Given the description of an element on the screen output the (x, y) to click on. 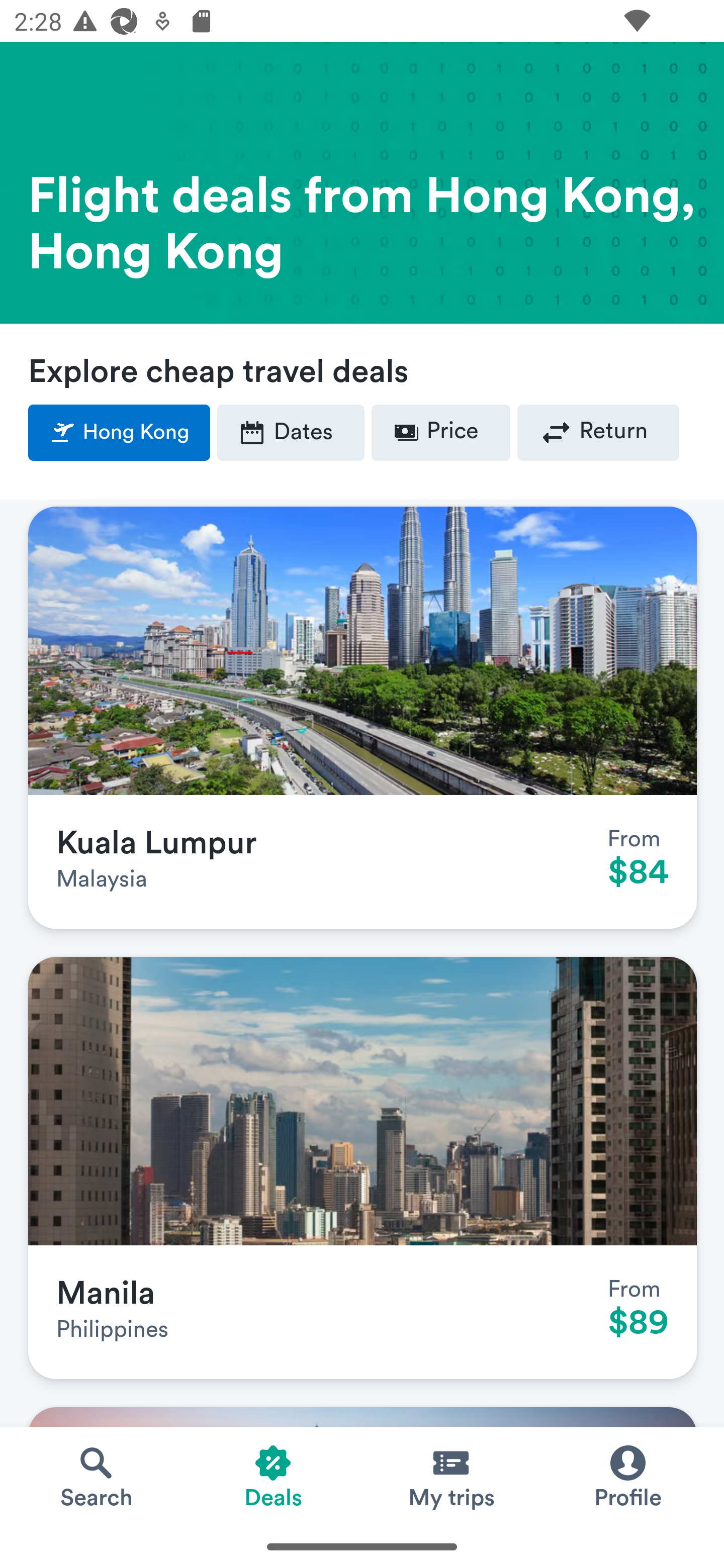
Dates (290, 433)
Price (440, 433)
Return (597, 433)
 Hong Kong (119, 433)
Kuala Lumpur Kuala Lumpur Malaysia From $84 (363, 717)
Manila Manila Philippines From $89 (363, 1167)
Search (95, 1475)
My trips (450, 1475)
Profile (627, 1475)
